Given the description of an element on the screen output the (x, y) to click on. 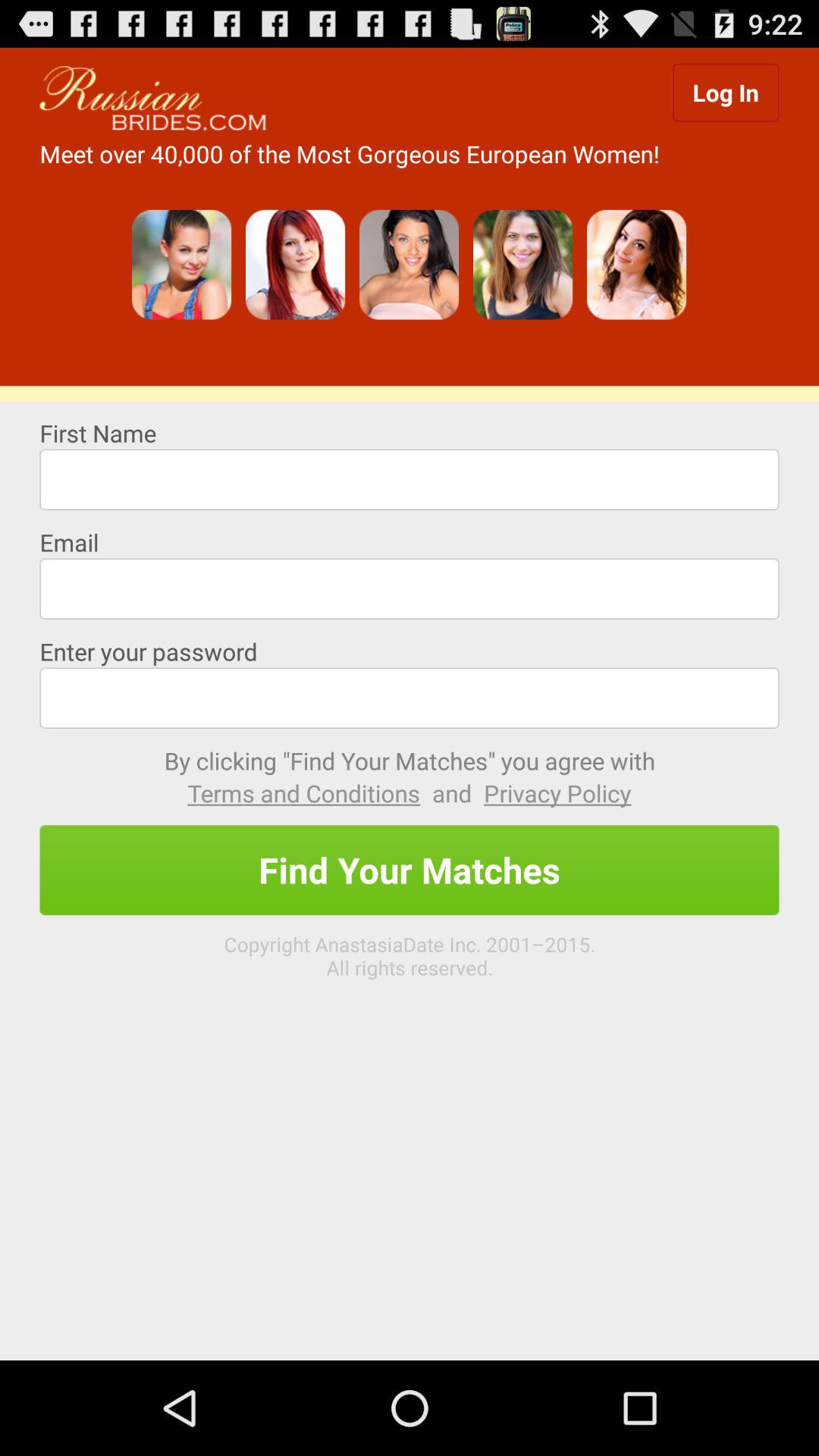
type first name (409, 479)
